Given the description of an element on the screen output the (x, y) to click on. 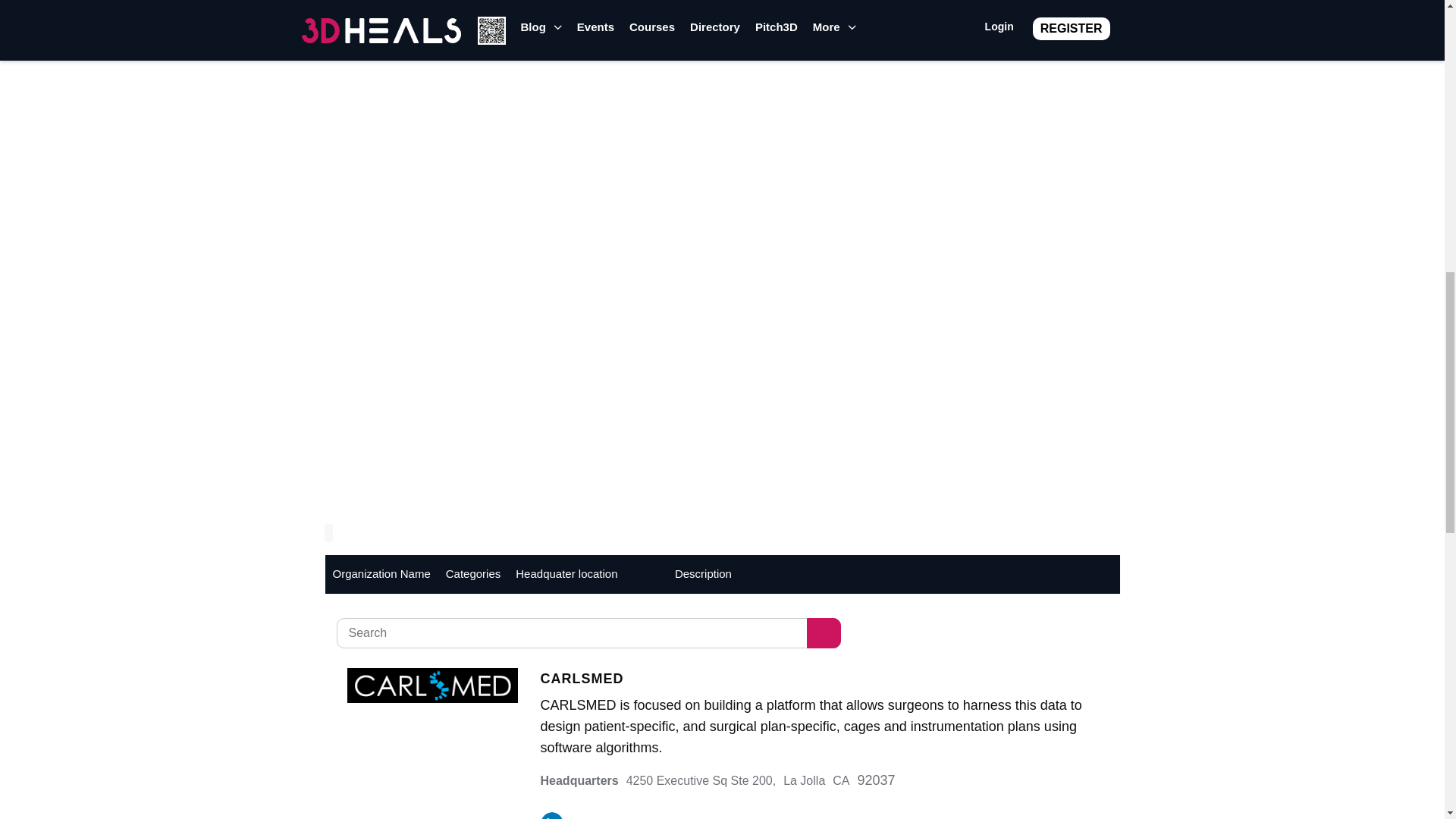
92037 (876, 780)
Search Directory (823, 633)
Search Directory (823, 633)
CARLSMED (818, 678)
